Given the description of an element on the screen output the (x, y) to click on. 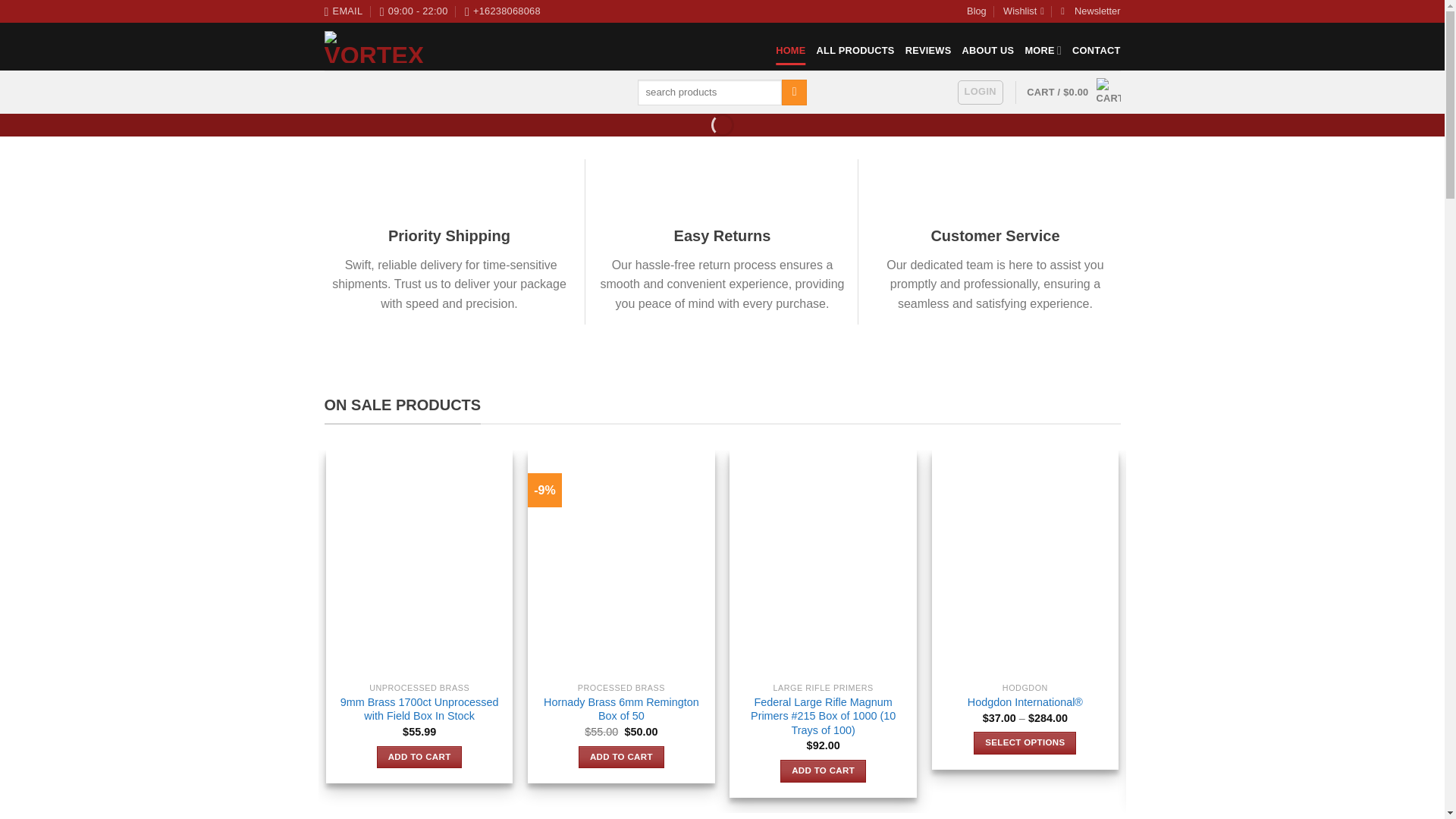
EMAIL (343, 11)
Blog (976, 11)
Search (793, 92)
HOME (790, 50)
Newsletter (1090, 11)
MORE (1043, 50)
REVIEWS (928, 50)
9mm Brass 1700ct Unprocessed with Field Box In Stock (419, 708)
Sign up for Newsletter (1090, 11)
LOGIN (980, 92)
09:00 - 22:00 (414, 11)
CONTACT (1095, 50)
ADD TO CART (620, 757)
09:00 - 22:00  (414, 11)
ADD TO CART (420, 757)
